Given the description of an element on the screen output the (x, y) to click on. 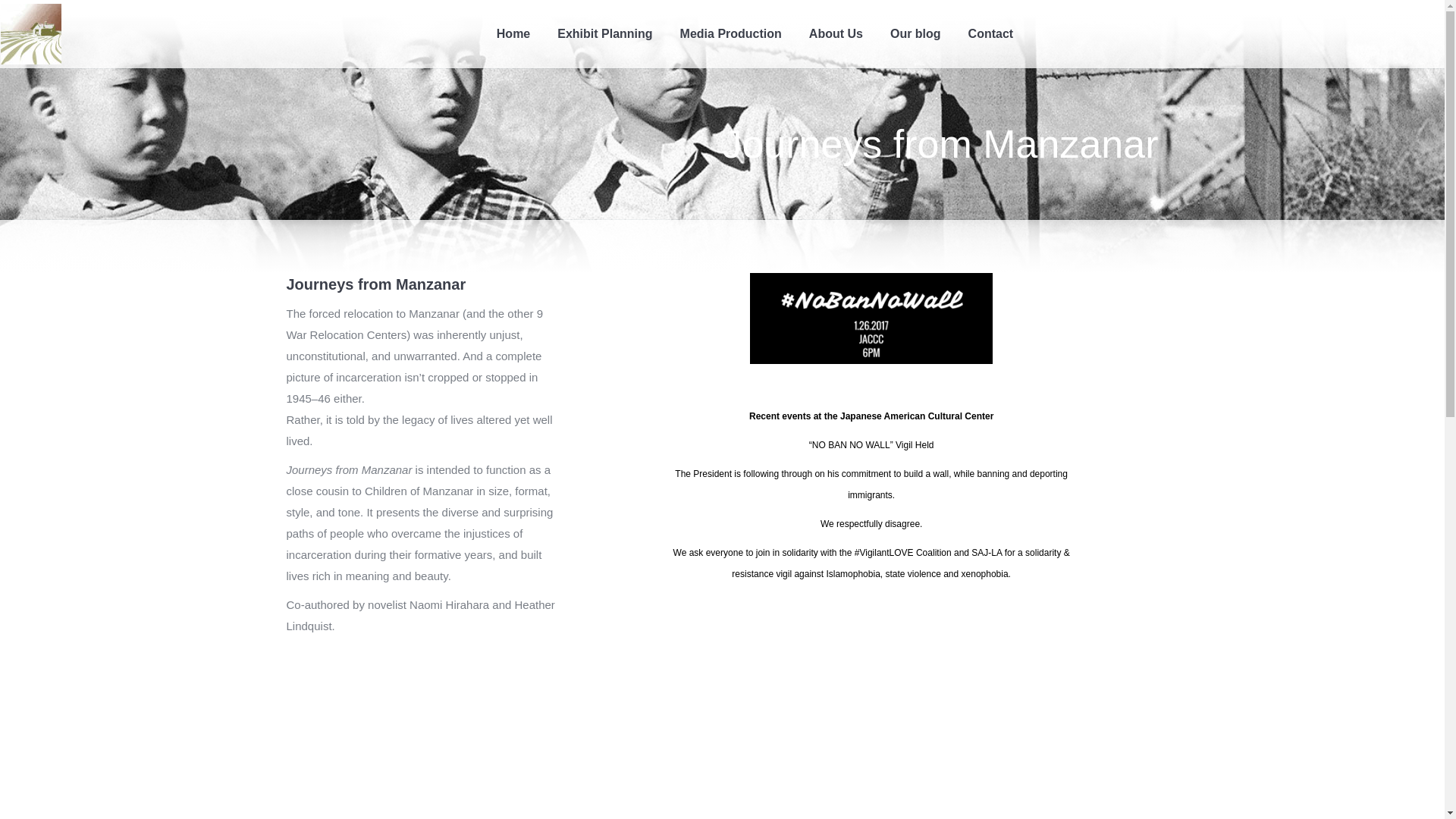
National Geographic Presents: Earth Explorers (898, 557)
THE ELEPHANT IN THE ROOM; RINGLING BROS. AND THE LA ZOO (608, 650)
Channel Islands National Park iPad App Virtual Tour (773, 619)
Trinity Health: A Corporate Merger and Core Values (898, 494)
About Us (836, 33)
L.A. Zoo Elephants of Asia (773, 683)
EVERYDAY, BORING, COMPETENT GOVERNANCE; BRING IT! (608, 580)
Don Knabe Regional Park, Cerritos (836, 494)
Manzanar National Historic Site (836, 683)
Rainforest of the Americas at the L.A. Zoo (898, 683)
